Given the description of an element on the screen output the (x, y) to click on. 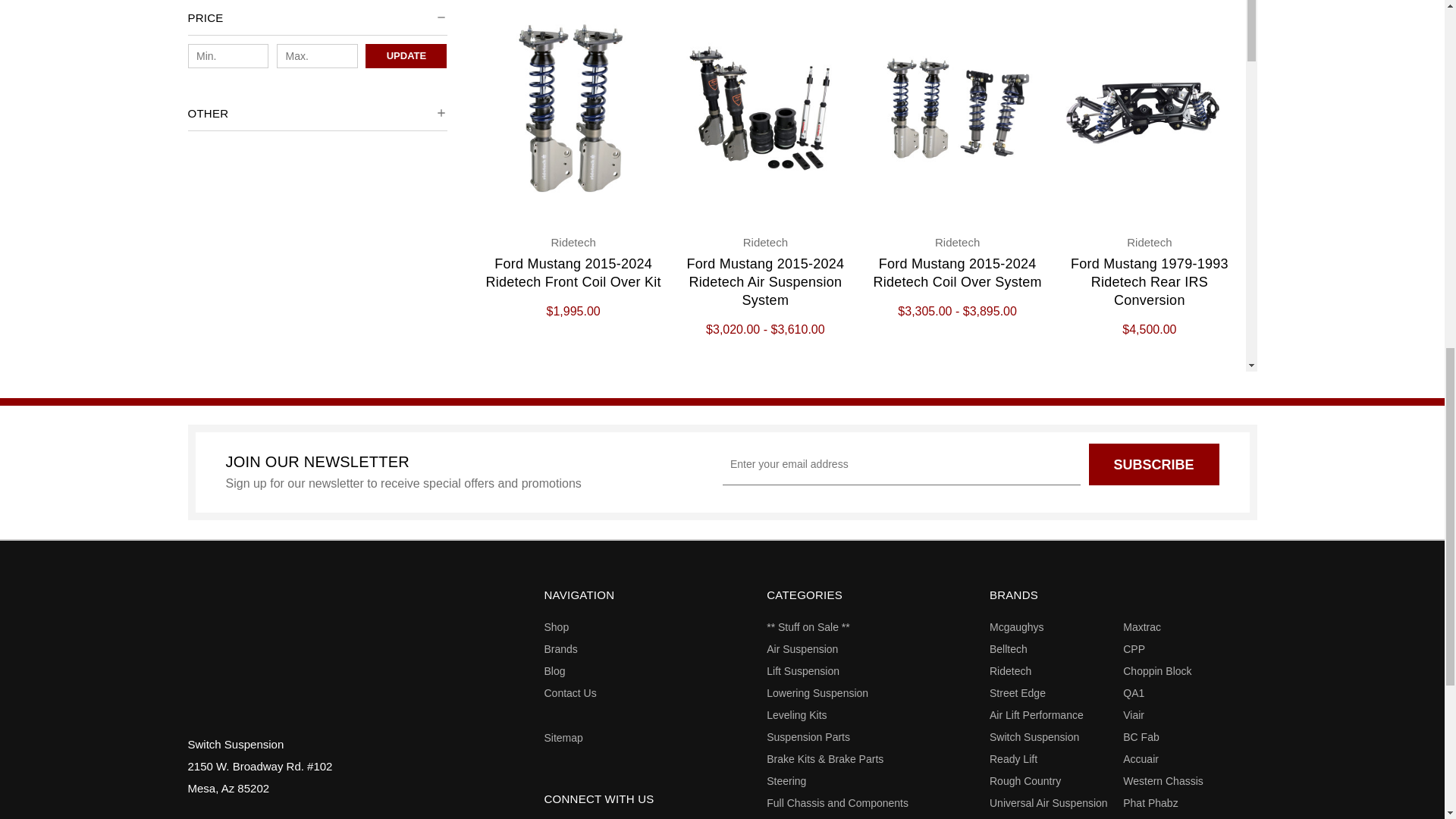
Subscribe (1154, 464)
